Given the description of an element on the screen output the (x, y) to click on. 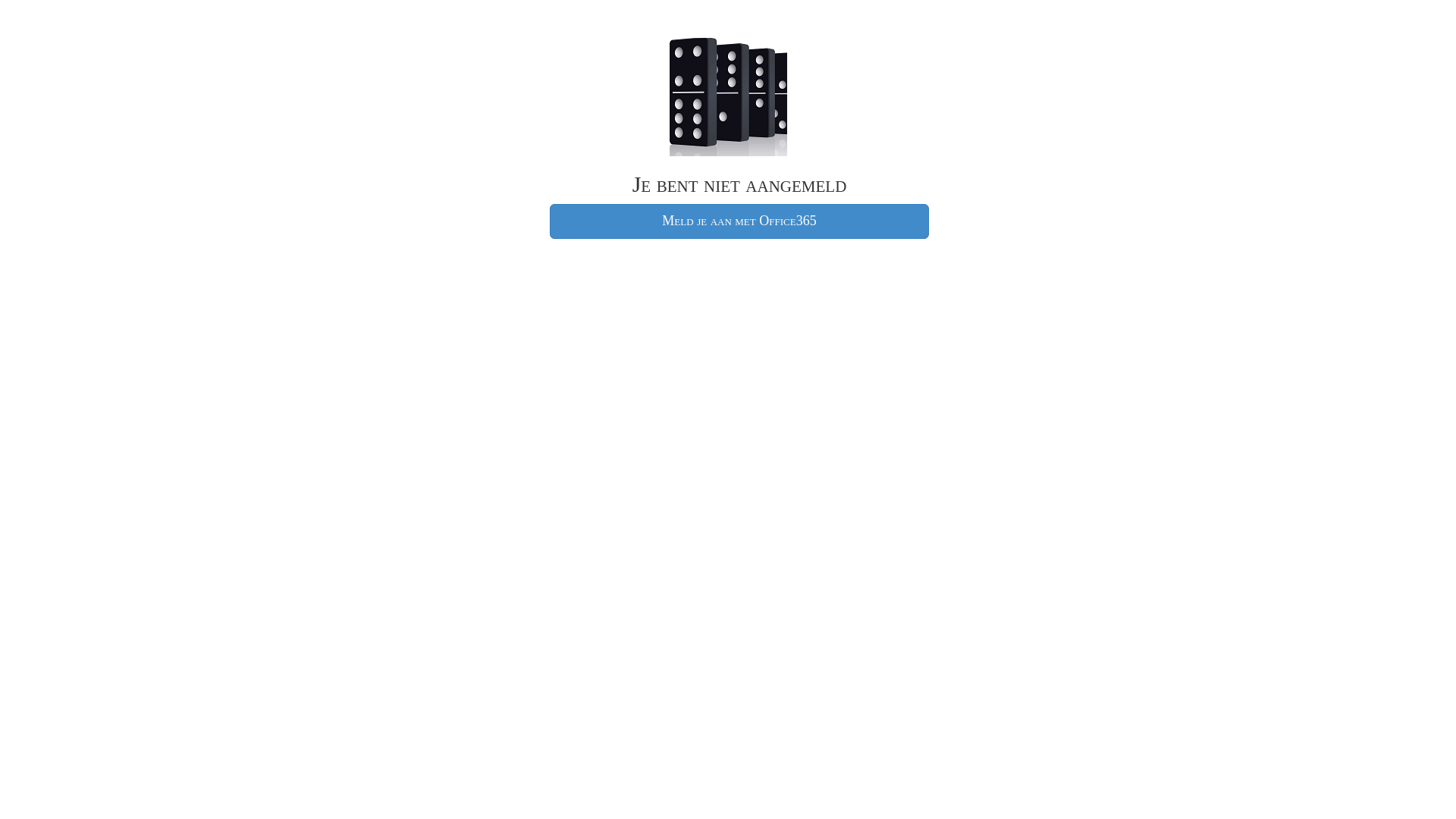
Meld je aan met Office365 Element type: text (738, 220)
